Given the description of an element on the screen output the (x, y) to click on. 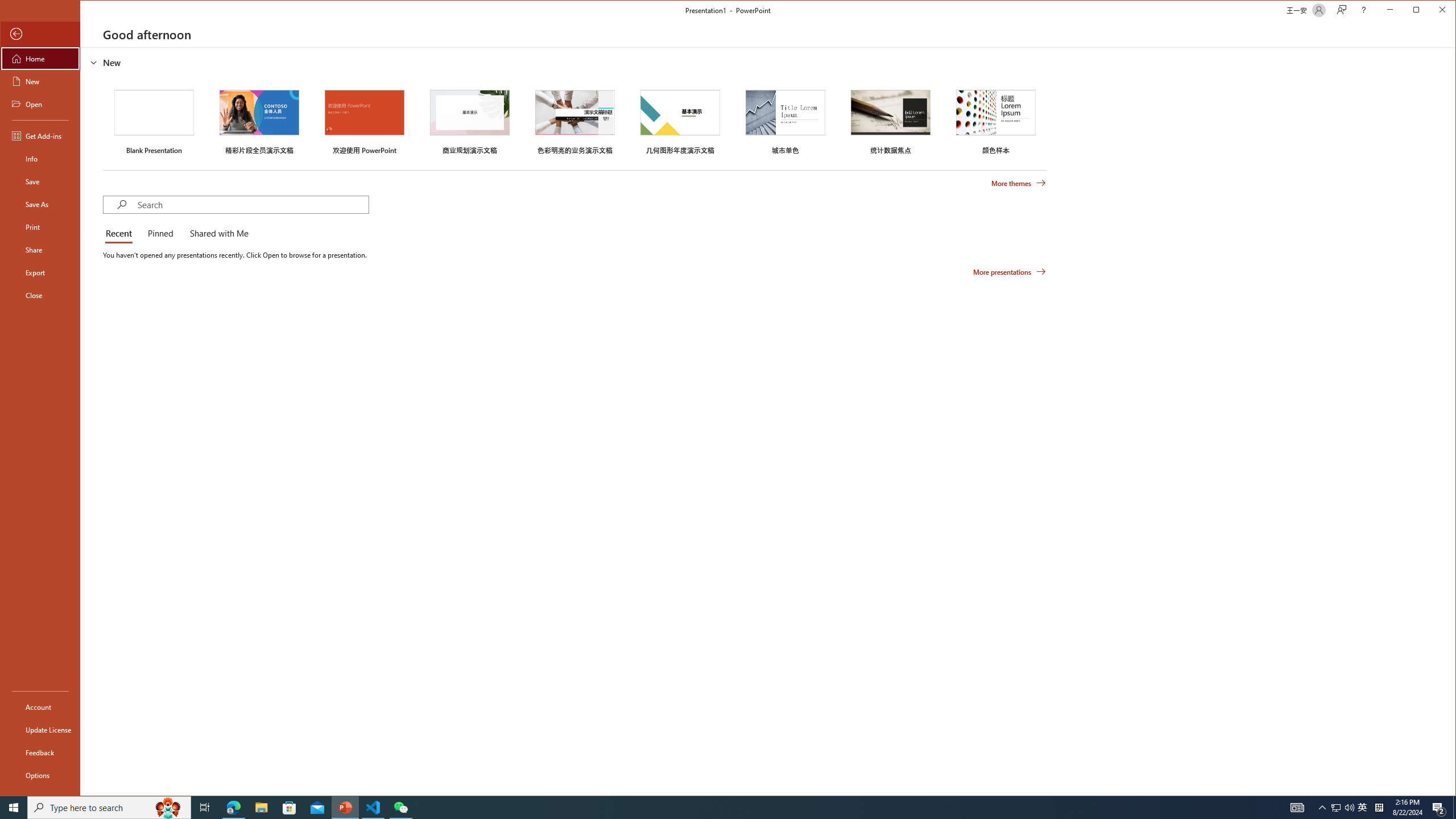
Options (40, 775)
Feedback (40, 752)
Export (40, 272)
